Given the description of an element on the screen output the (x, y) to click on. 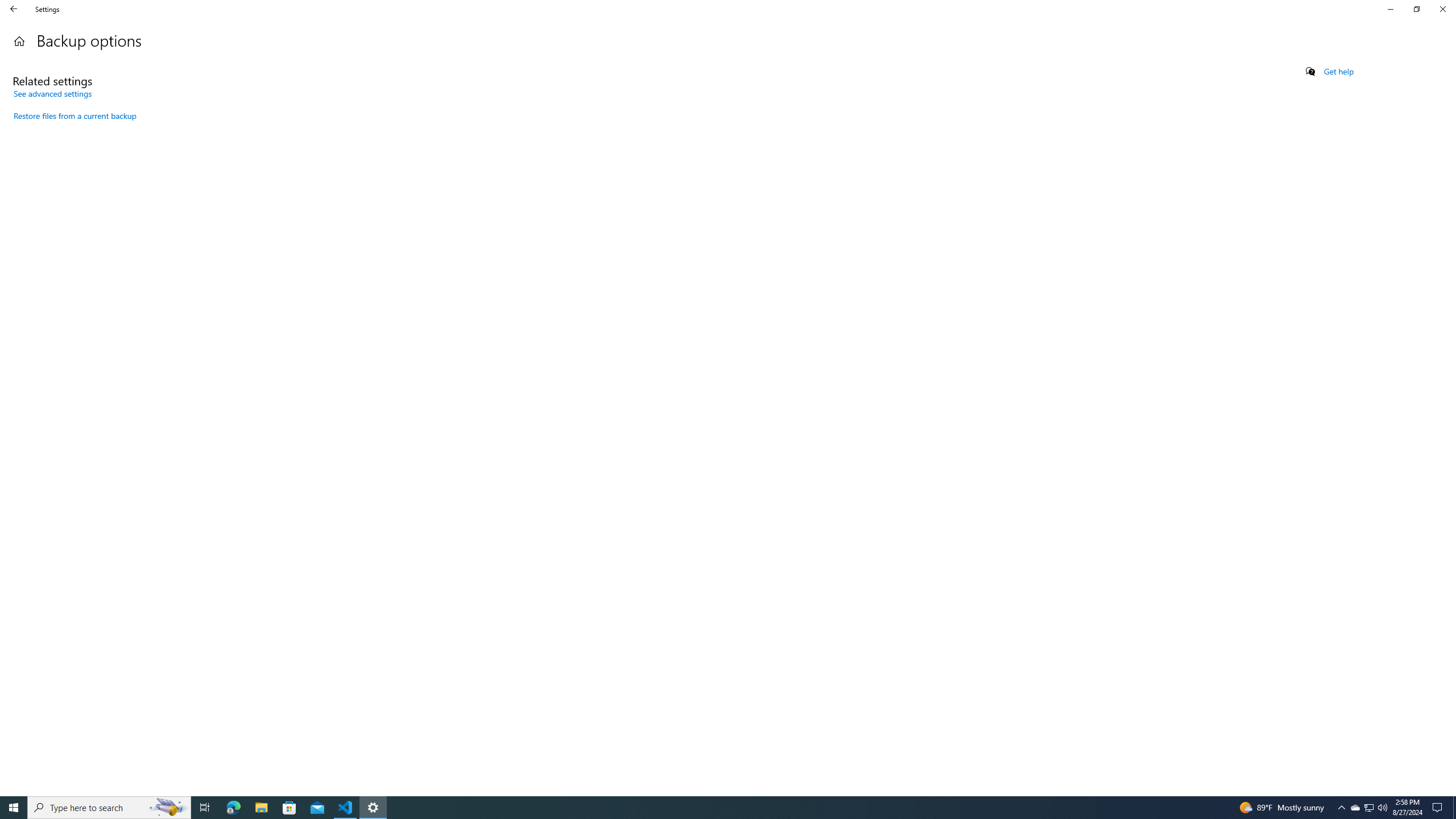
Show desktop (1454, 807)
Home (19, 40)
Restore files from a current backup (74, 115)
Start (13, 807)
Running applications (717, 807)
Restore Settings (1416, 9)
Visual Studio Code - 1 running window (345, 807)
Get help (1338, 71)
Microsoft Edge (233, 807)
Notification Chevron (1341, 807)
See advanced settings (52, 93)
Settings - 1 running window (373, 807)
Action Center, No new notifications (1439, 807)
